Given the description of an element on the screen output the (x, y) to click on. 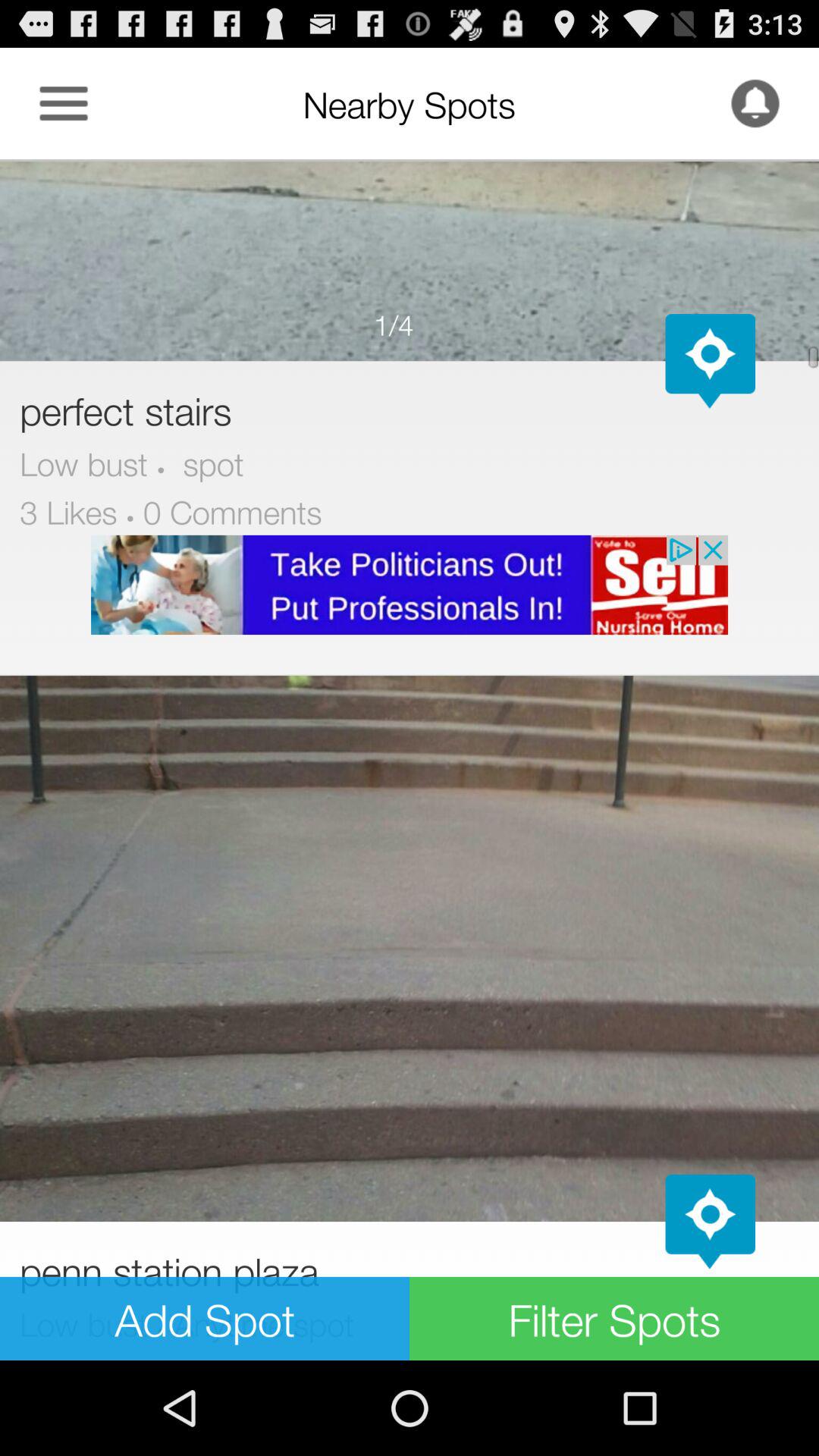
menu options (63, 103)
